Given the description of an element on the screen output the (x, y) to click on. 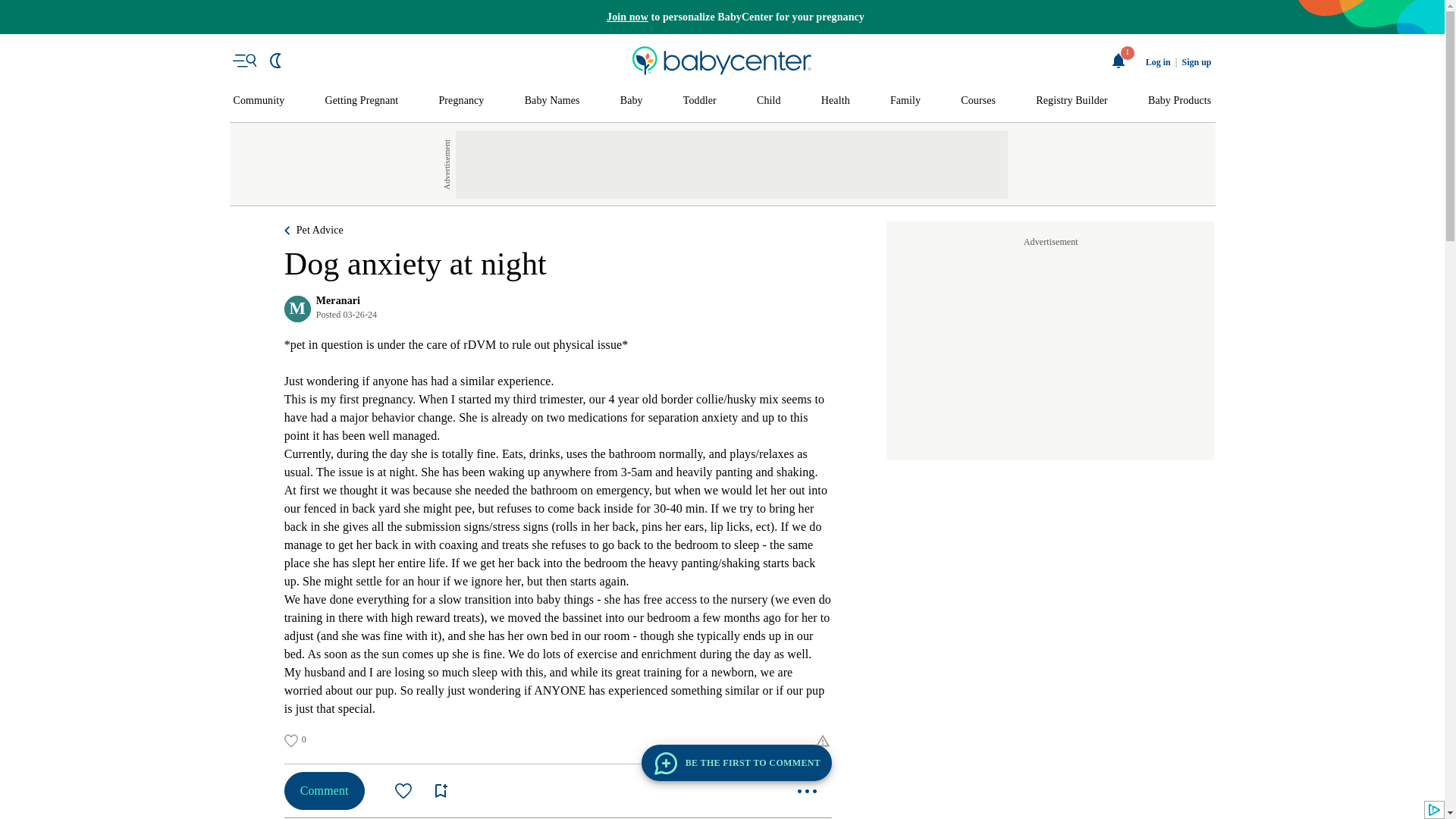
Getting Pregnant (360, 101)
1 (1118, 60)
Baby Products (1179, 101)
Baby (631, 101)
Child (768, 101)
Courses (977, 101)
Baby Names (551, 101)
Pregnancy (460, 101)
Registry Builder (1071, 101)
Log in (1157, 61)
